Given the description of an element on the screen output the (x, y) to click on. 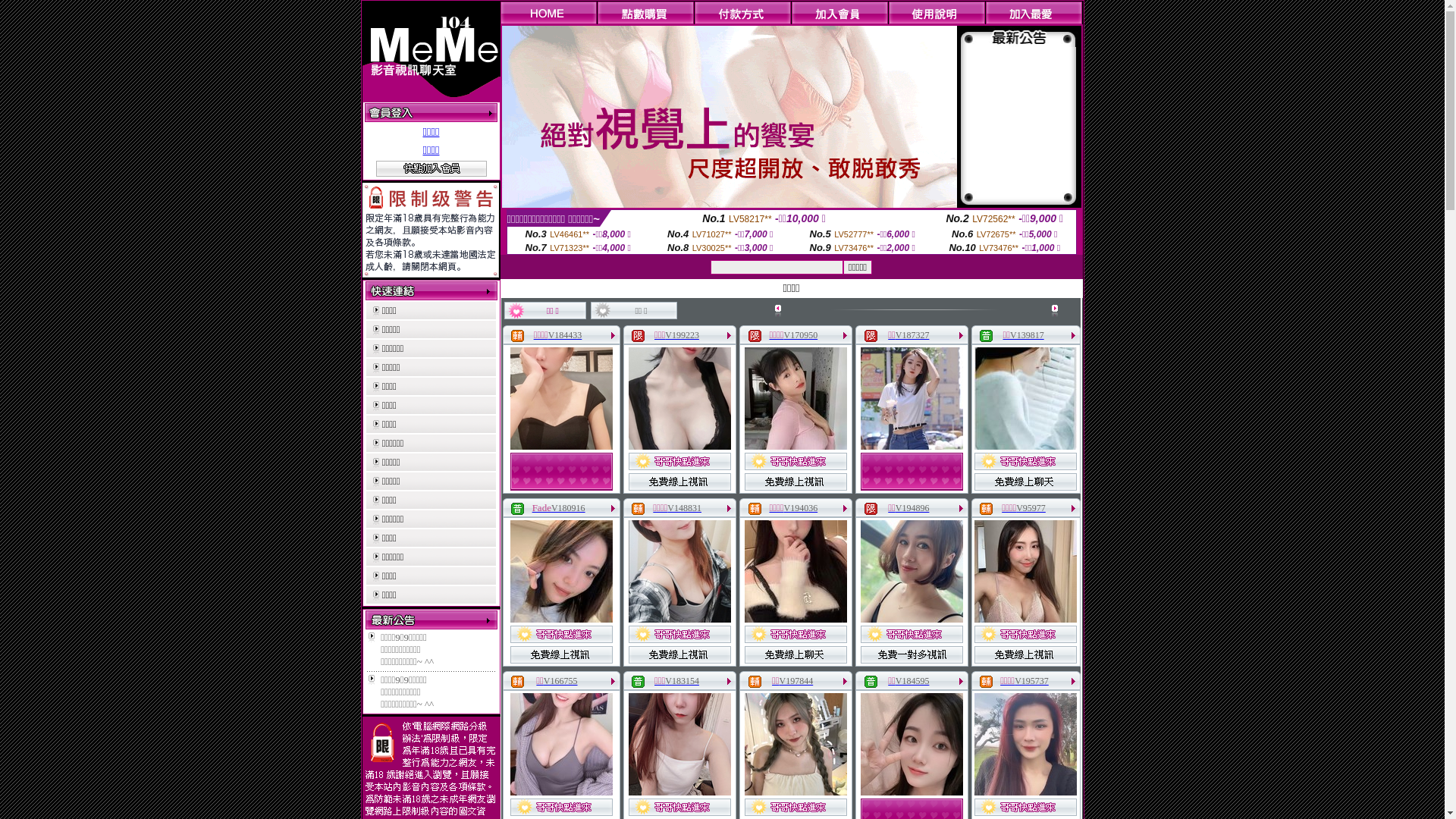
V180916 Element type: text (568, 507)
V195737 Element type: text (1031, 680)
V184433 Element type: text (565, 334)
V187327 Element type: text (912, 334)
Fade Element type: text (541, 507)
V166755 Element type: text (560, 680)
V194896 Element type: text (912, 507)
V199223 Element type: text (682, 334)
V170950 Element type: text (801, 334)
V183154 Element type: text (682, 680)
V184595 Element type: text (912, 680)
V139817 Element type: text (1027, 334)
V148831 Element type: text (684, 507)
V197844 Element type: text (796, 680)
V95977 Element type: text (1030, 507)
V194036 Element type: text (801, 507)
